Given the description of an element on the screen output the (x, y) to click on. 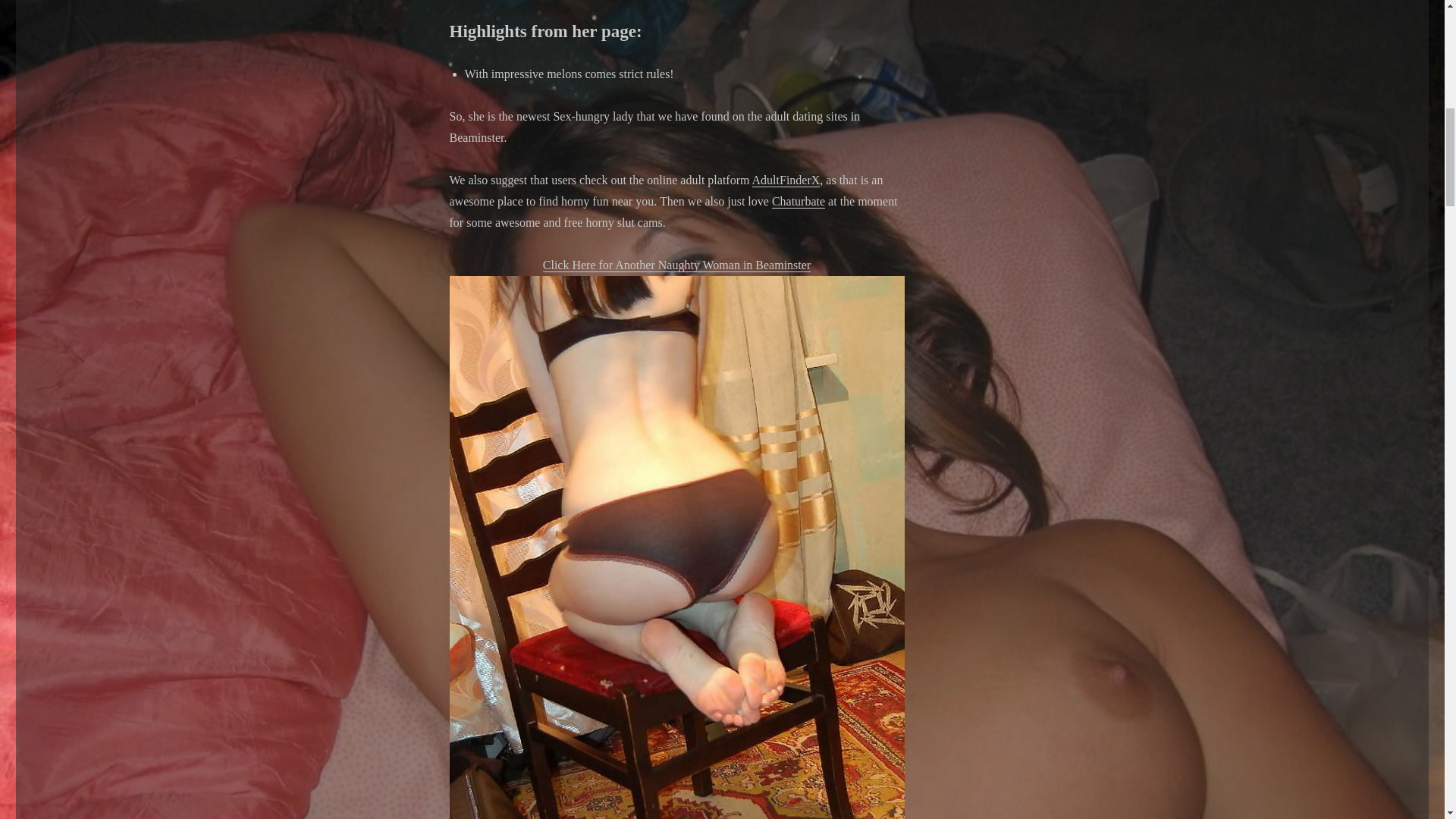
AdultFinderX (786, 179)
Click Here for Another Naughty Woman in Beaminster (676, 264)
Chaturbate (798, 201)
